Given the description of an element on the screen output the (x, y) to click on. 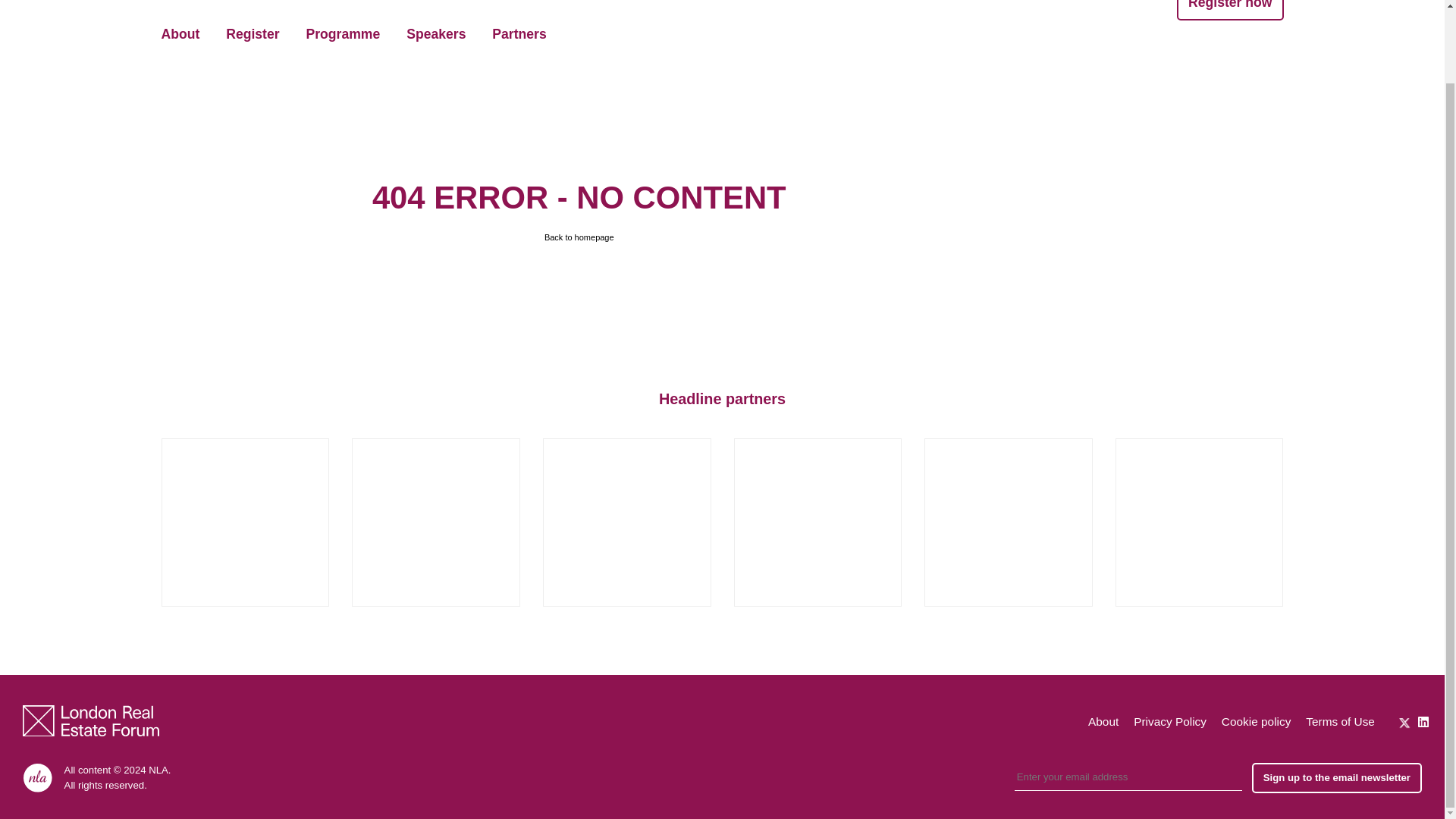
About (179, 34)
Terms of Use (1340, 721)
Register (252, 34)
Register now (1229, 9)
About (1102, 721)
Programme (342, 34)
Back to homepage (579, 236)
Partners (519, 34)
Sign up to the email newsletter (1337, 777)
Speakers (435, 34)
Cookie policy (1256, 721)
Privacy Policy (1170, 721)
